Given the description of an element on the screen output the (x, y) to click on. 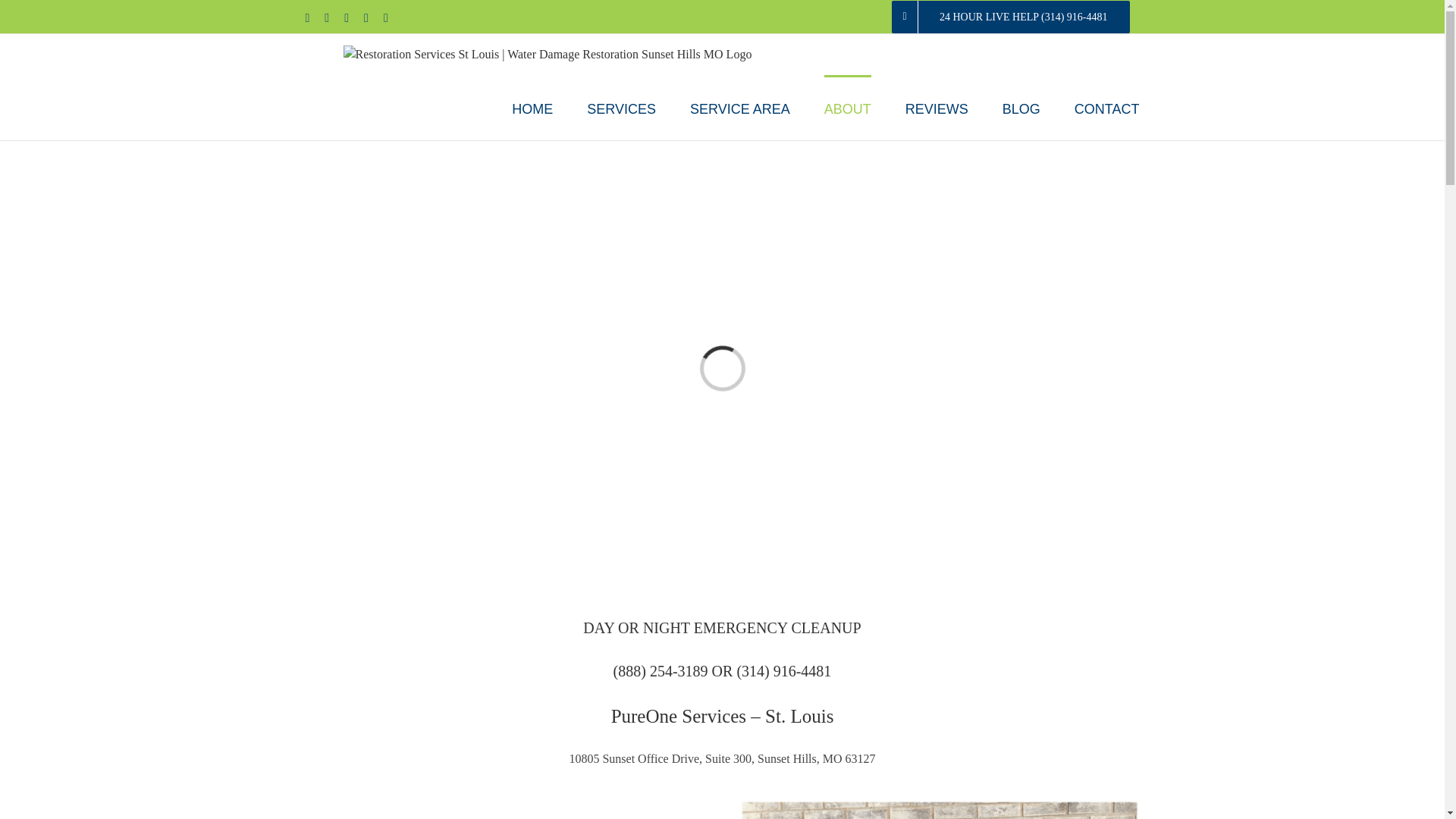
SERVICE AREA (740, 107)
REVIEWS (936, 107)
SERVICES (621, 107)
SERVICE AREA (740, 107)
CONTACT (1107, 107)
REVIEWS (936, 107)
